Given the description of an element on the screen output the (x, y) to click on. 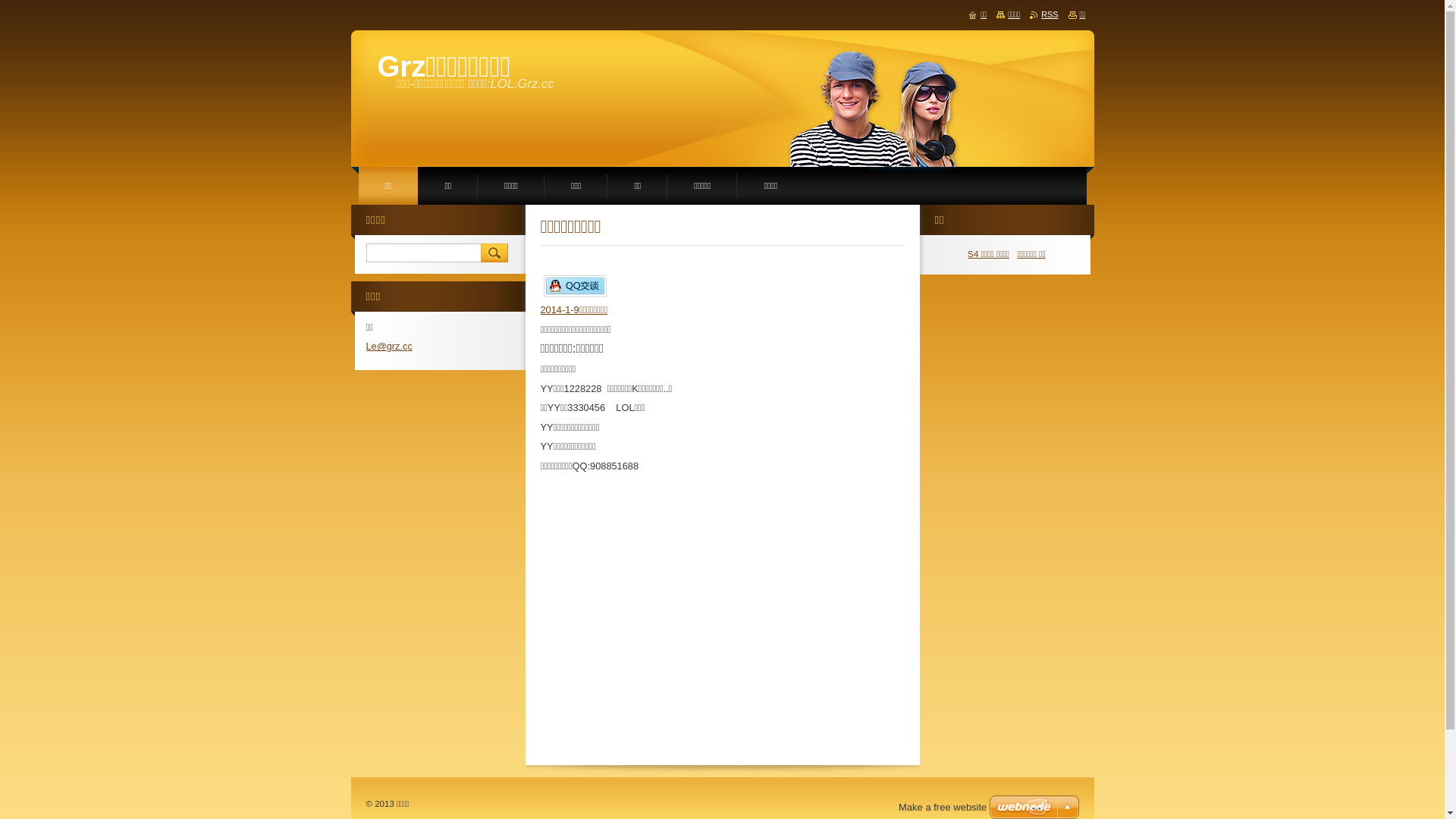
Make a free website Element type: text (942, 806)
RSS Element type: text (1043, 13)
Le@grz.cc Element type: text (388, 345)
